Given the description of an element on the screen output the (x, y) to click on. 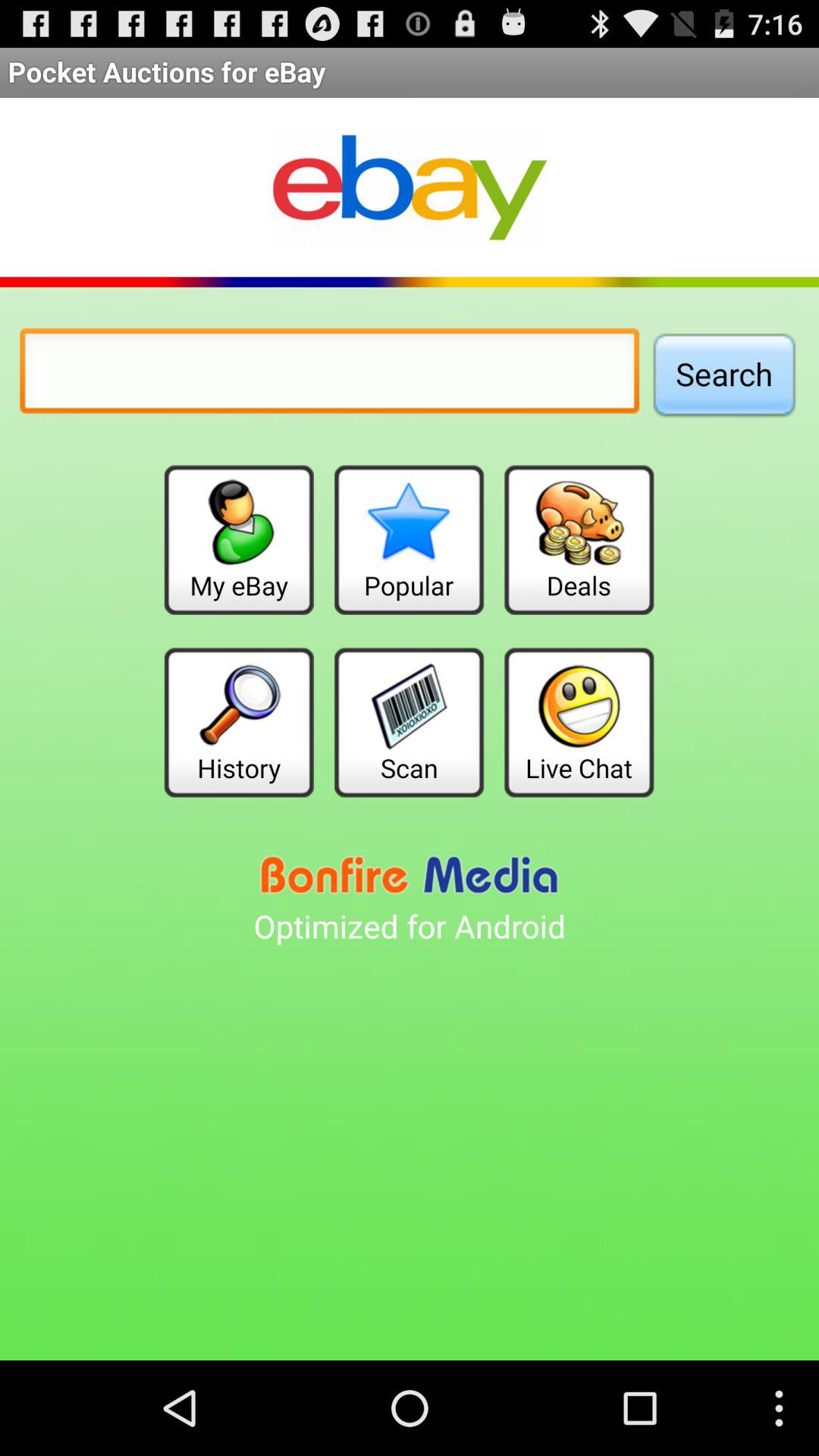
click live chat icon (579, 722)
